Given the description of an element on the screen output the (x, y) to click on. 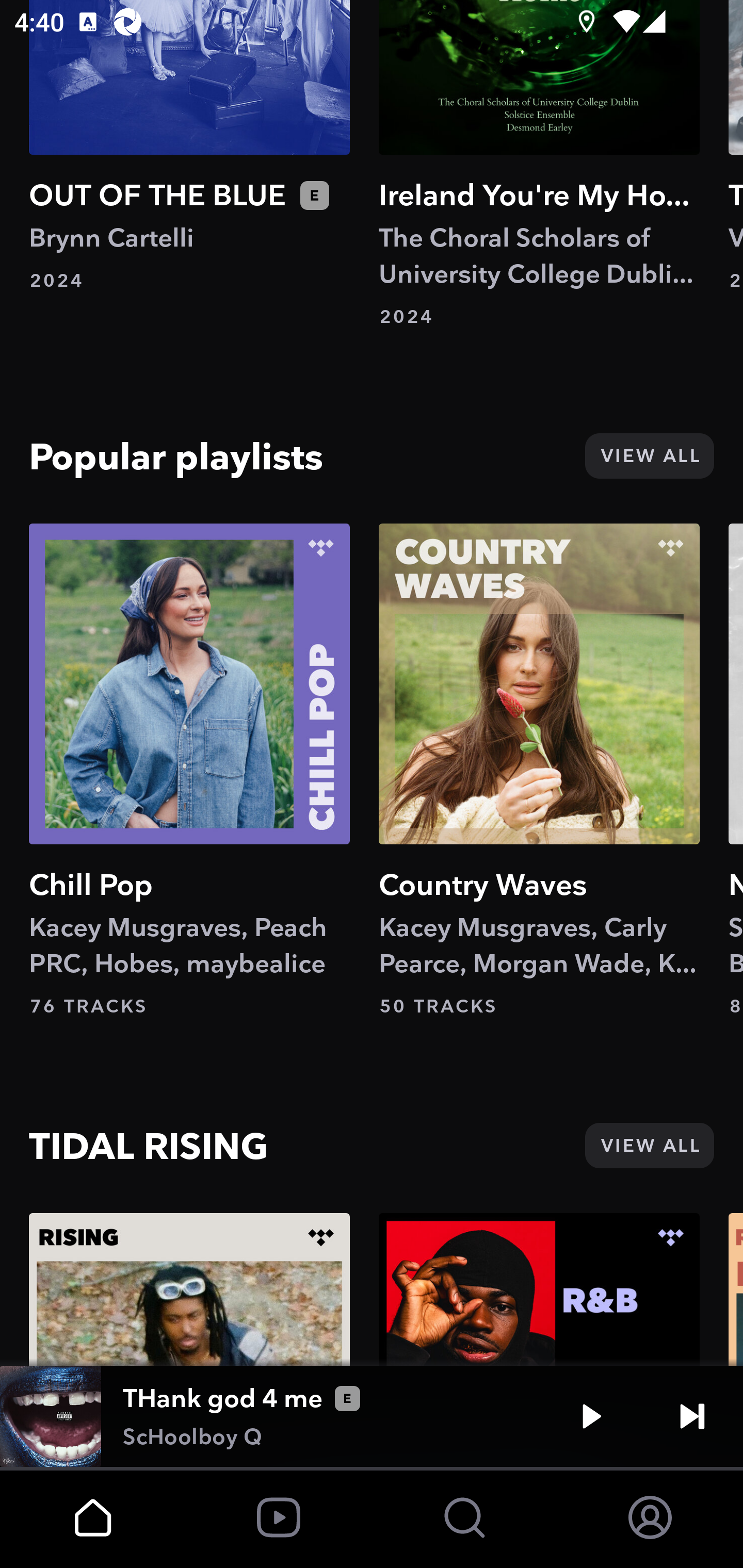
OUT OF THE BLUE Brynn Cartelli 2024 (188, 146)
VIEW ALL (649, 455)
VIEW ALL (649, 1145)
THank god 4 me    ScHoolboy Q Play (371, 1416)
Play (590, 1416)
